Given the description of an element on the screen output the (x, y) to click on. 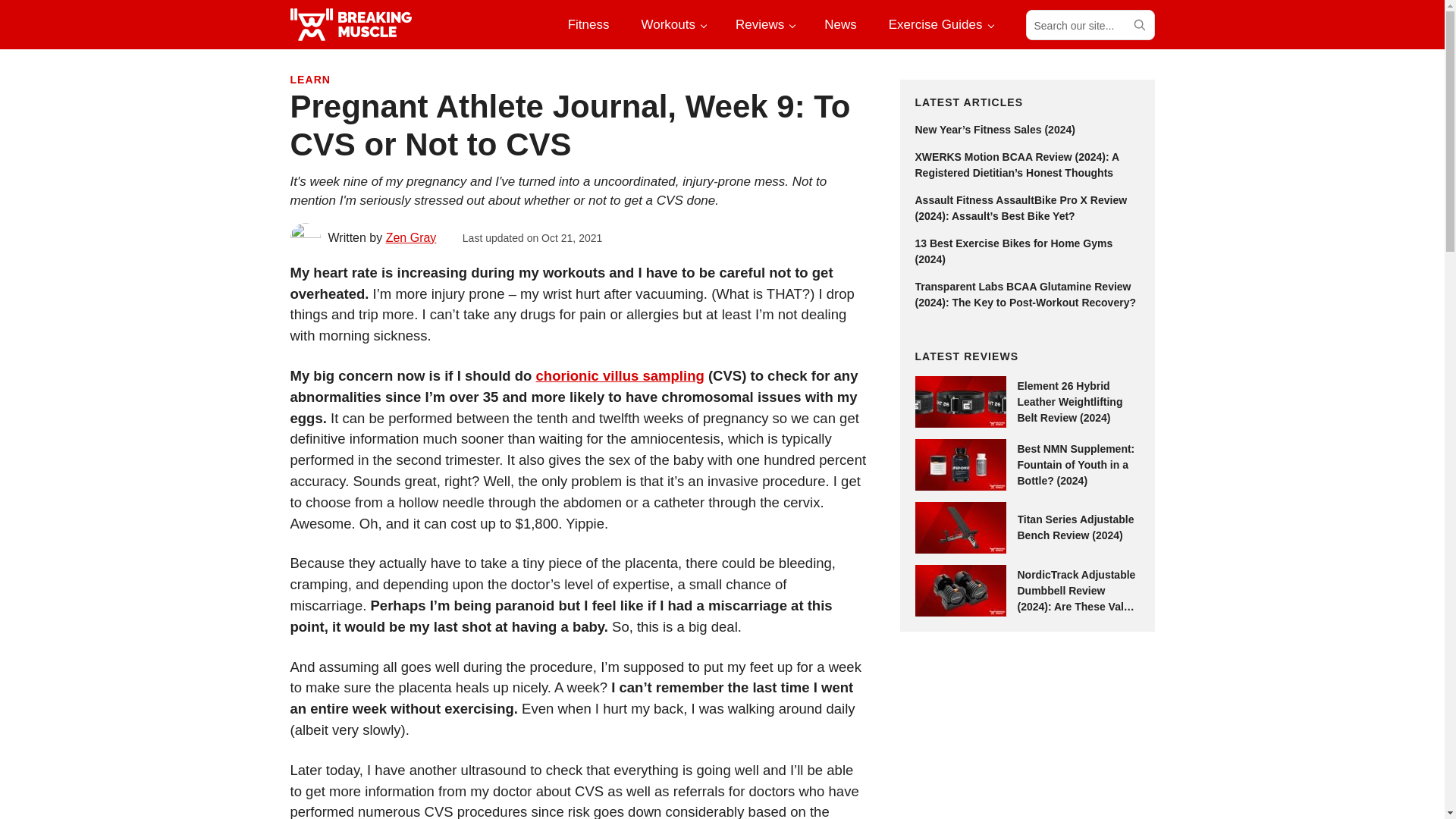
Fitness (588, 24)
Reviews (764, 24)
Submit search (1138, 24)
Workouts (672, 24)
Submit search (1138, 24)
